Given the description of an element on the screen output the (x, y) to click on. 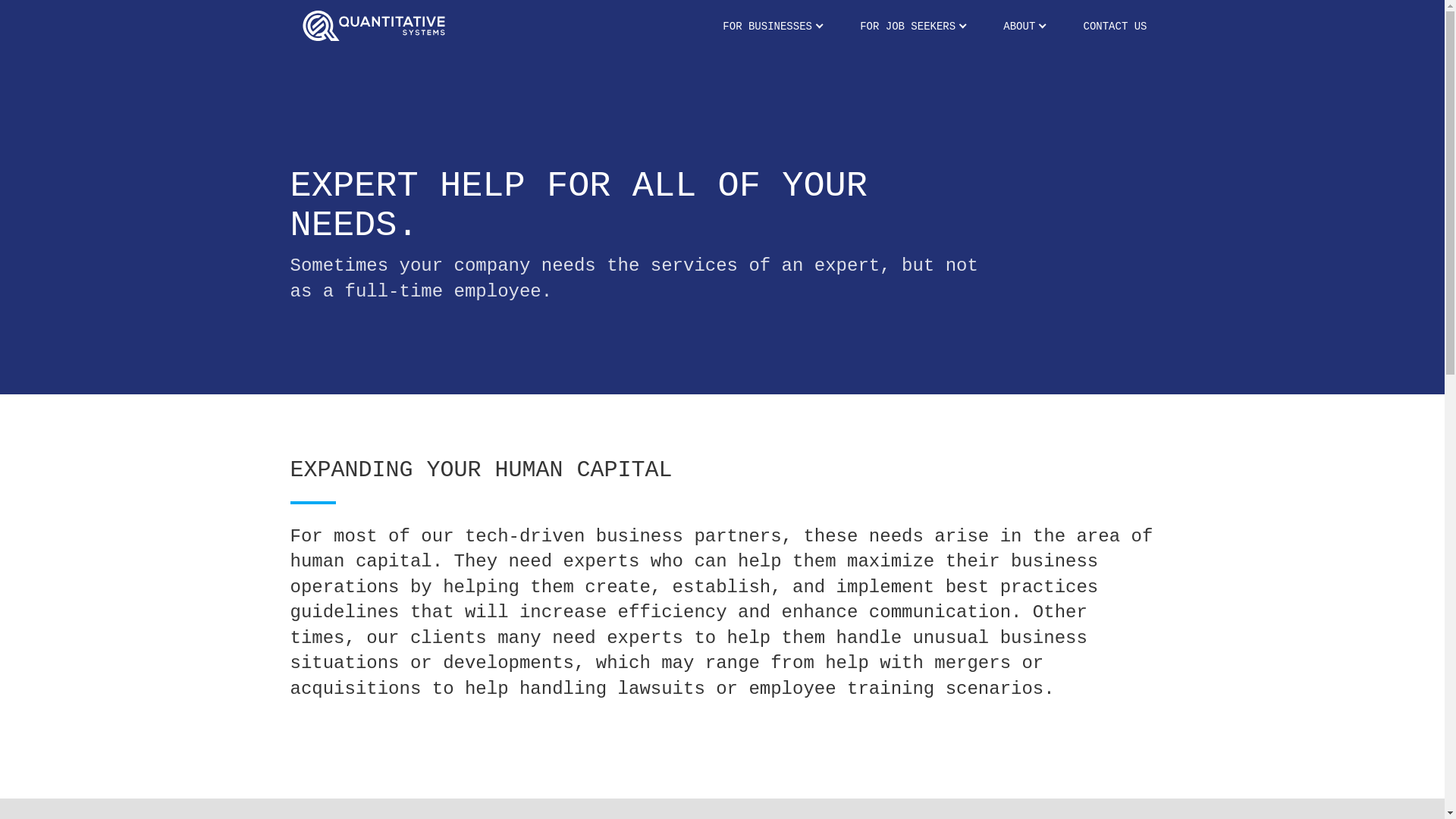
FOR JOB SEEKERS (912, 26)
CONTACT US (1115, 26)
FOR BUSINESSES (772, 26)
ABOUT (1024, 26)
Quantitative Systems (373, 26)
